Given the description of an element on the screen output the (x, y) to click on. 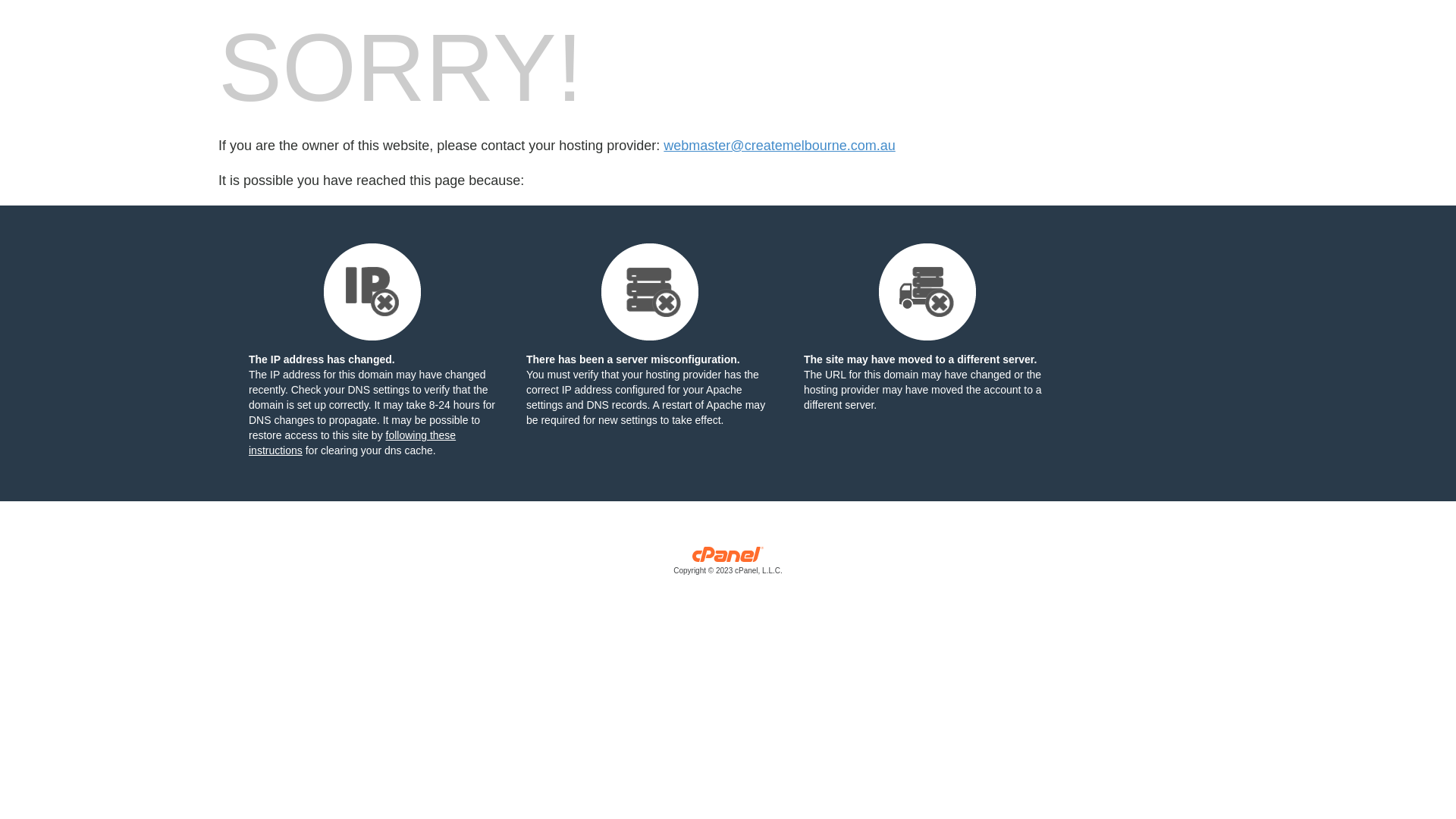
following these instructions Element type: text (351, 442)
webmaster@createmelbourne.com.au Element type: text (778, 145)
